Given the description of an element on the screen output the (x, y) to click on. 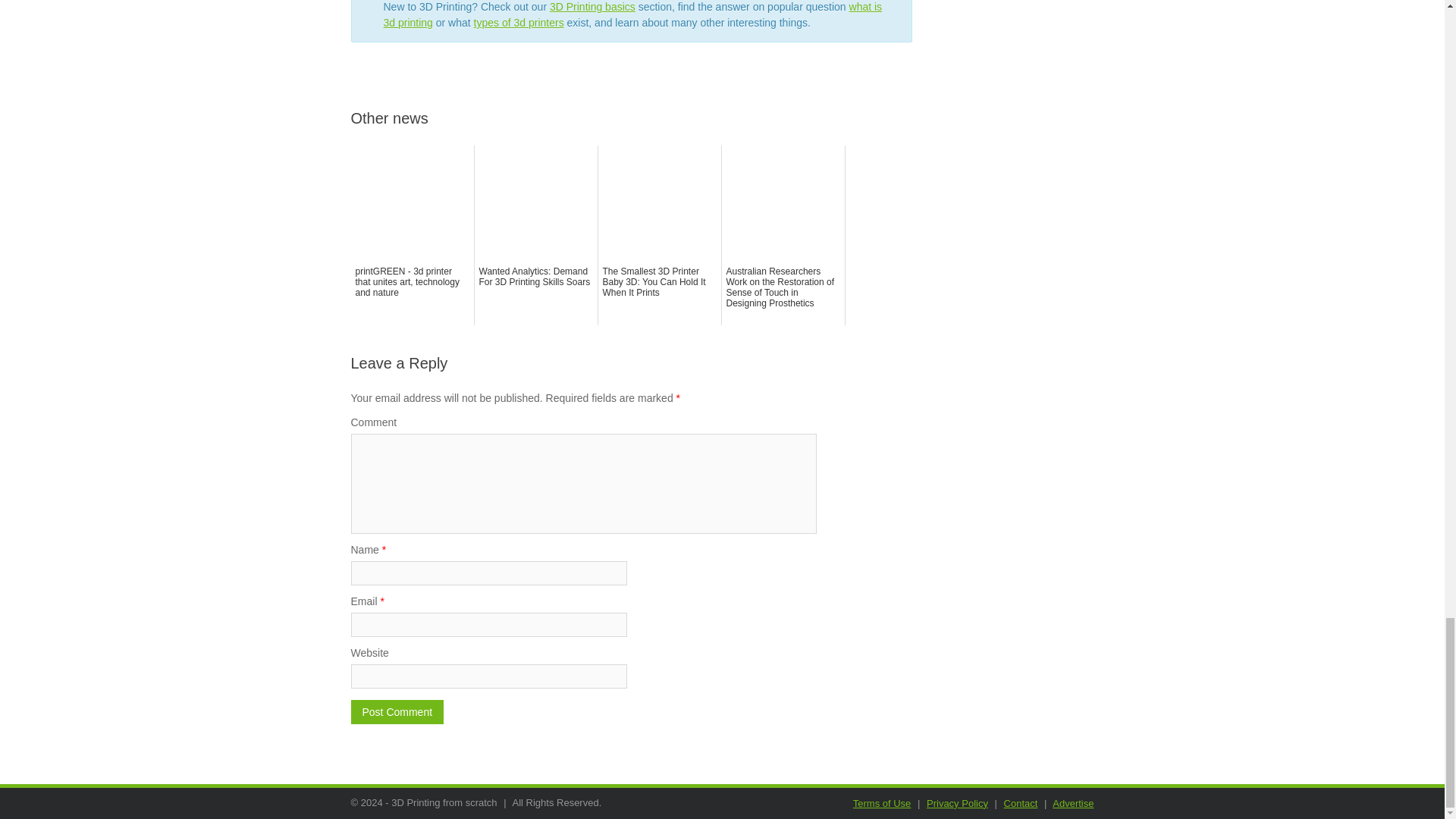
3D printing basics (592, 6)
types of 3d printers (519, 22)
Post Comment (397, 711)
What is 3D printing (633, 14)
3D Printing basics (592, 6)
Post Comment (397, 711)
Types of 3D printers or 3D printing technologies overview (519, 22)
what is 3d printing (633, 14)
